Given the description of an element on the screen output the (x, y) to click on. 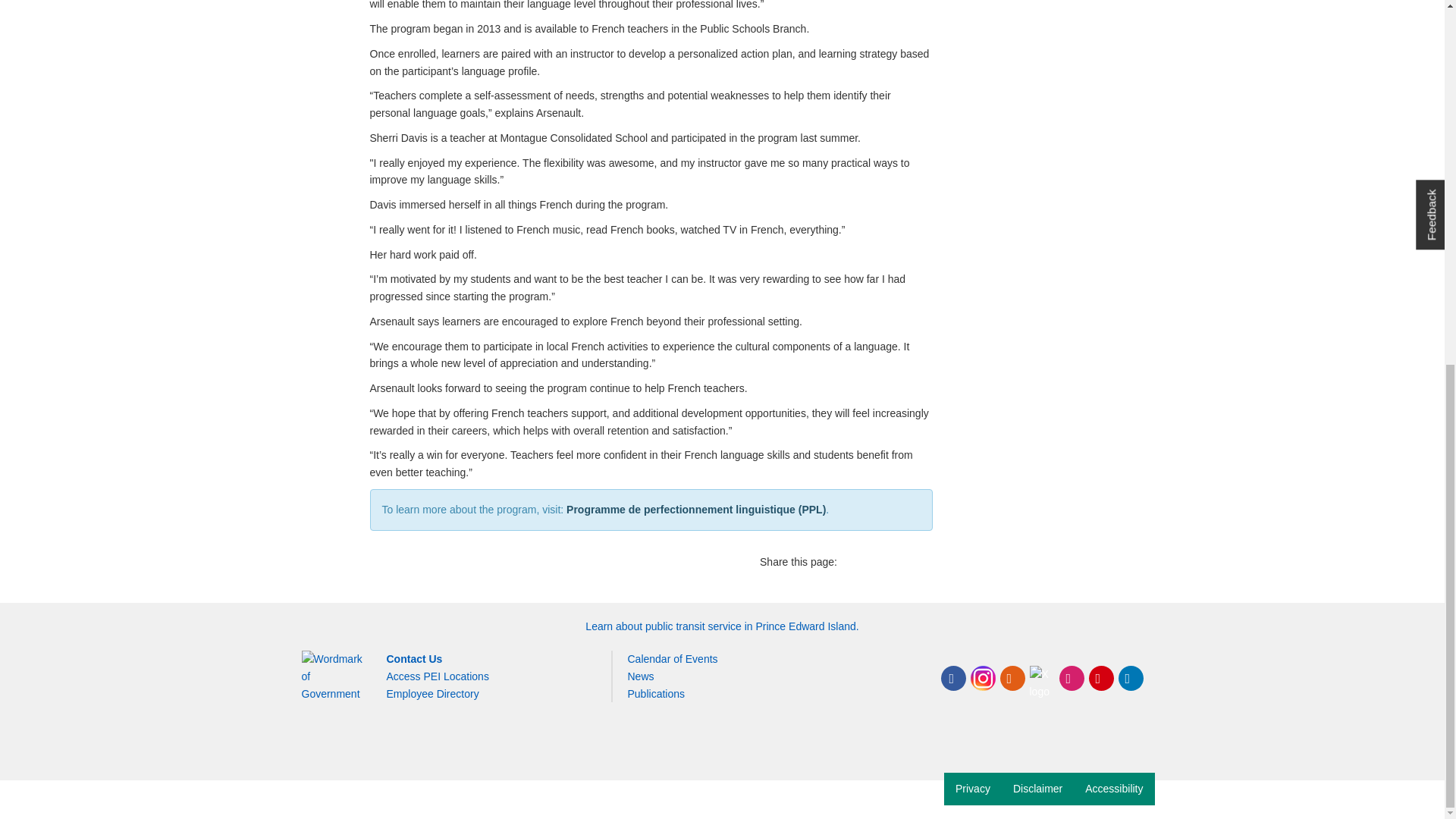
Visit our Instagram page (983, 678)
Email this page to a friend (920, 561)
Visit our X page (1041, 678)
Share this page on Facebook (888, 561)
Visit our Facebook page (952, 678)
RSS Feeds (1011, 678)
Share this page on X (856, 561)
